Given the description of an element on the screen output the (x, y) to click on. 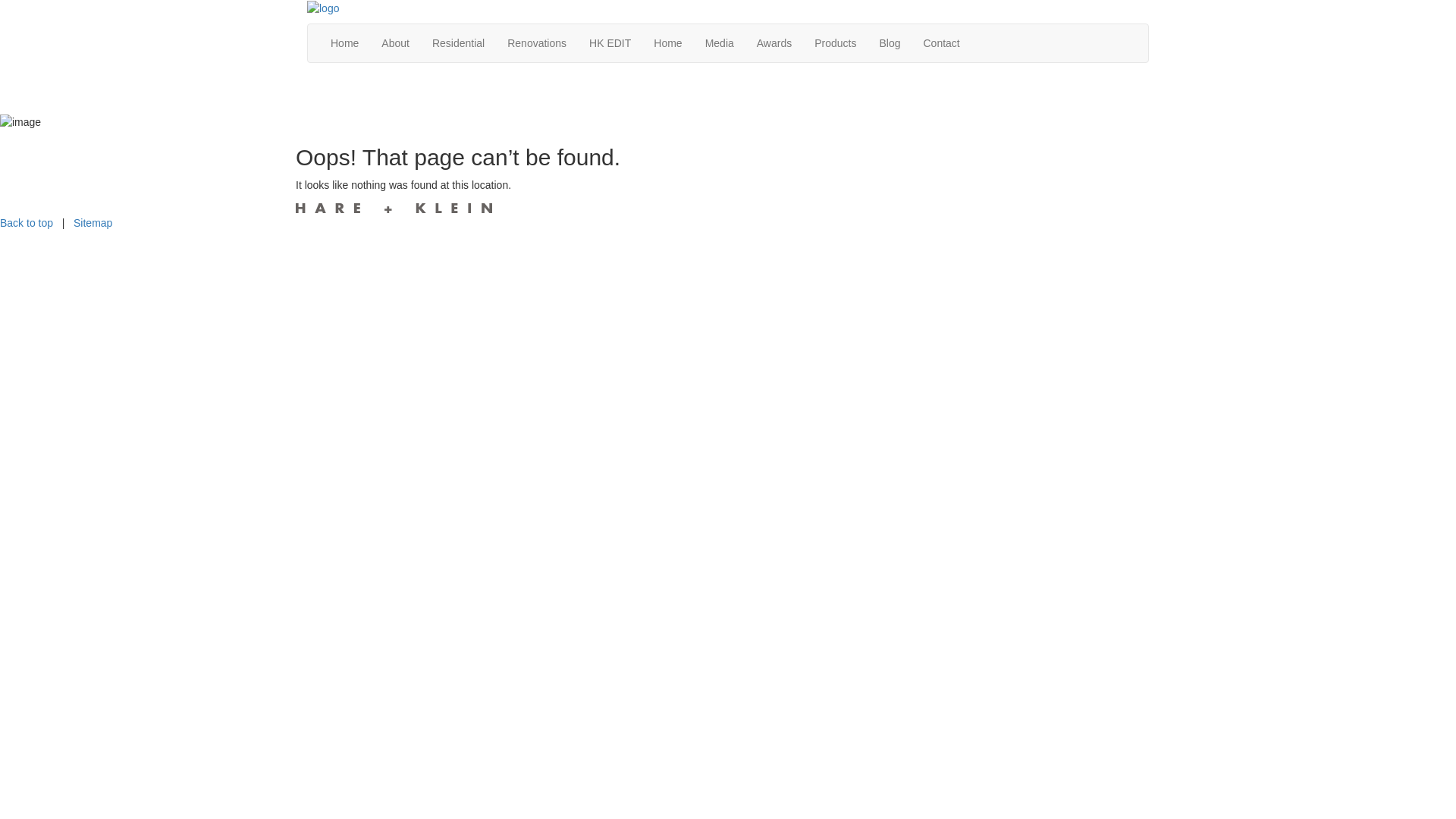
HK EDIT Element type: text (609, 43)
Media Element type: text (719, 43)
Sitemap Element type: text (92, 222)
Residential Element type: text (457, 43)
Contact Element type: text (940, 43)
Home Element type: text (667, 43)
Back to top Element type: text (26, 222)
Blog Element type: text (889, 43)
Renovations Element type: text (536, 43)
Awards Element type: text (774, 43)
About Element type: text (395, 43)
Home Element type: text (344, 43)
Products Element type: text (835, 43)
